Given the description of an element on the screen output the (x, y) to click on. 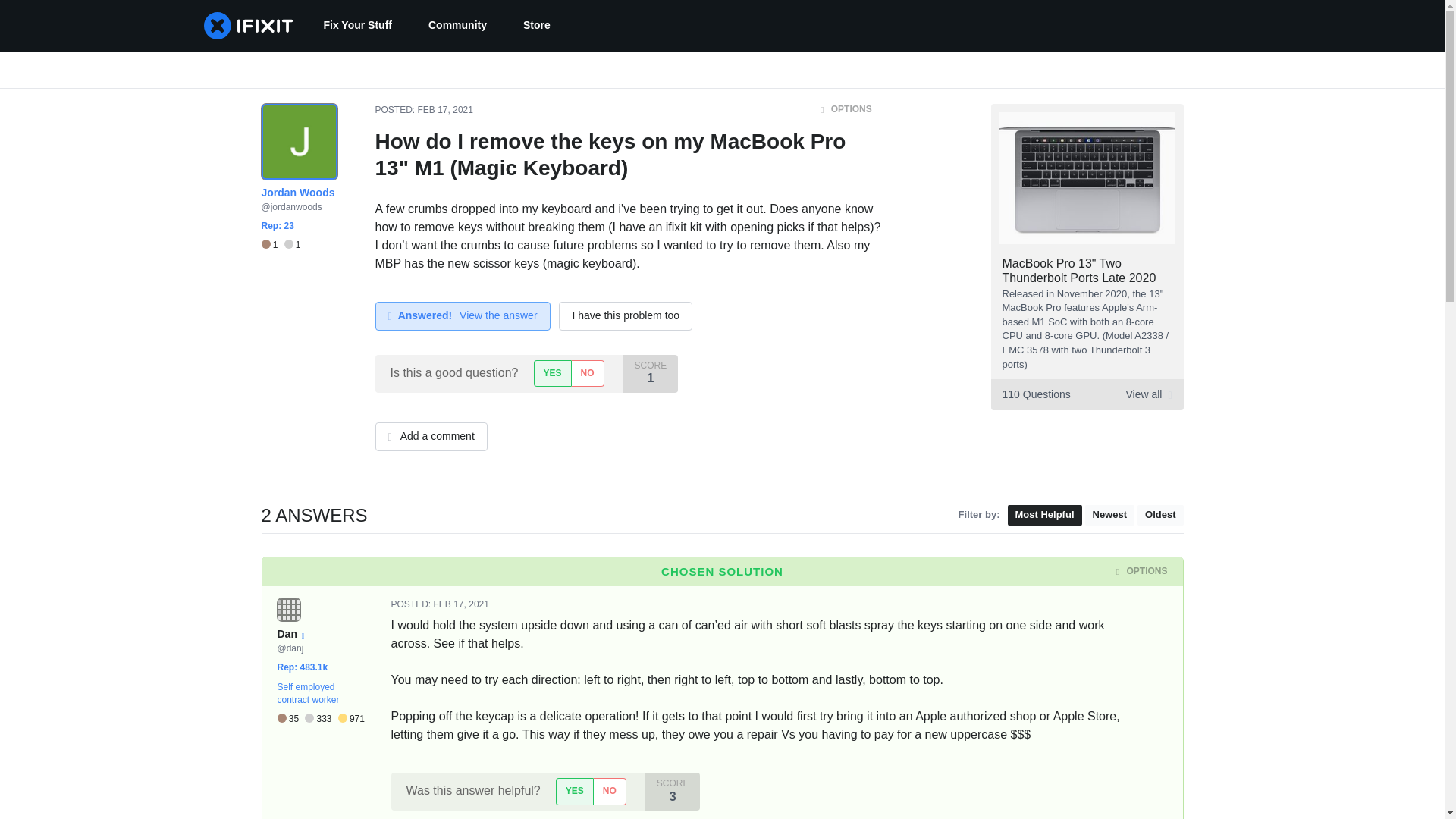
35 Bronze badges (291, 718)
Most Helpful (1044, 515)
Add a comment (430, 436)
I have this problem too (626, 316)
NO (609, 791)
Wed, 17 Feb 2021 07:39:19 -0700 (445, 109)
POSTED: FEB 17, 2021 (422, 109)
POSTED: FEB 17, 2021 (440, 603)
YES (552, 373)
333 Silver badges (320, 718)
